Given the description of an element on the screen output the (x, y) to click on. 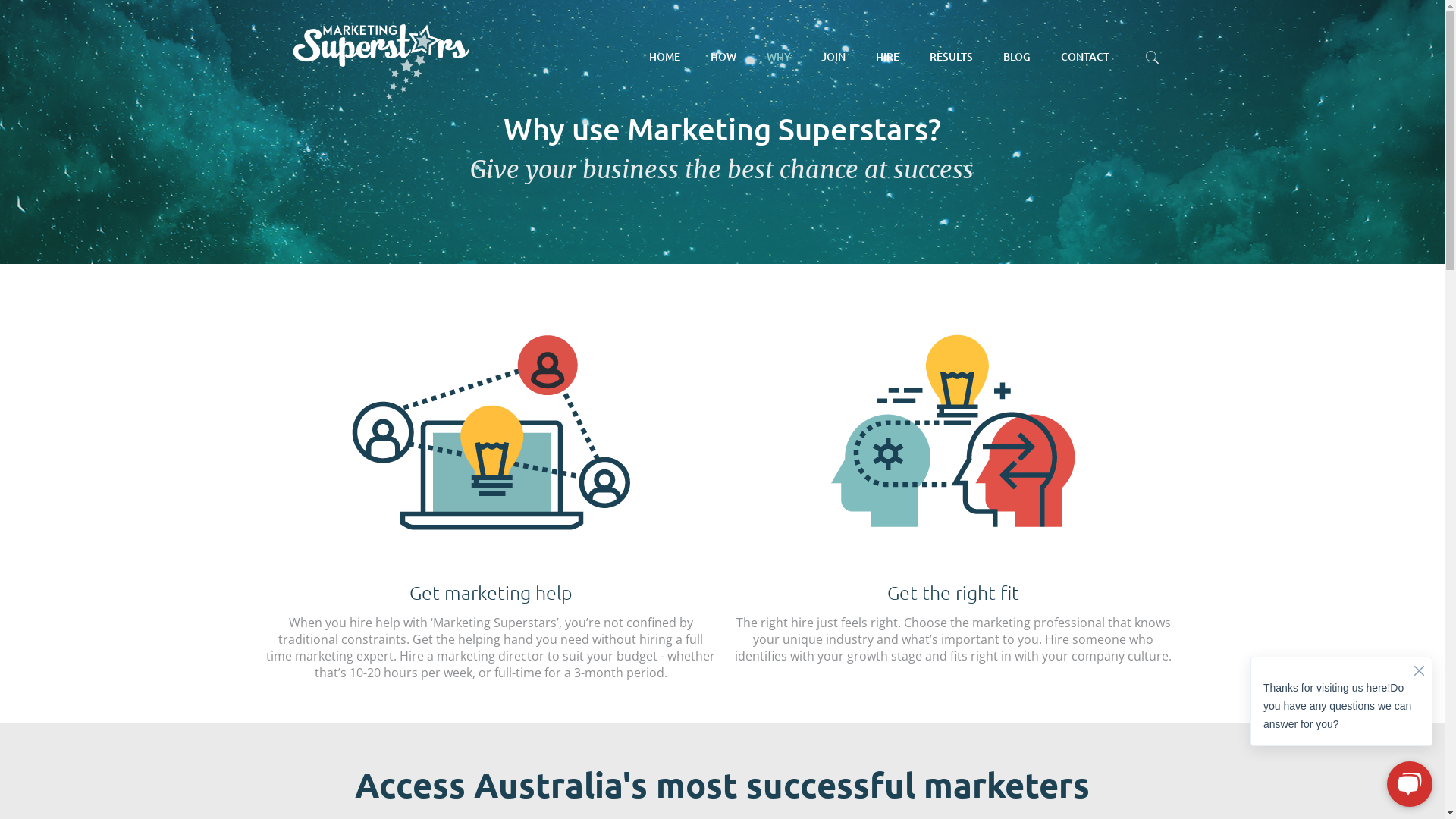
WHY Element type: text (778, 56)
Why Join? Element type: text (845, 546)
HOME Element type: text (664, 56)
BLOG Element type: text (1016, 56)
Marketing Superstars Element type: hover (380, 56)
How we work Element type: text (845, 516)
HIRE Element type: text (887, 56)
Twitter Element type: hover (711, 795)
info@marketingsuperstars.com.au Element type: text (375, 637)
Facebook Element type: hover (691, 795)
Join The A-Team Element type: text (845, 575)
Instagram Element type: hover (752, 795)
Hire a Superstar Element type: text (845, 605)
Blog Element type: text (845, 664)
LinkedIn Element type: hover (732, 795)
CONTACT Element type: text (1084, 56)
RESULTS Element type: text (951, 56)
Our Highlights Element type: text (845, 634)
JOIN Element type: text (833, 56)
Become a Consultant Element type: text (1069, 618)
HOW Element type: text (723, 56)
Seek a Superstar Element type: text (1069, 565)
Contact Us Element type: text (845, 694)
